Given the description of an element on the screen output the (x, y) to click on. 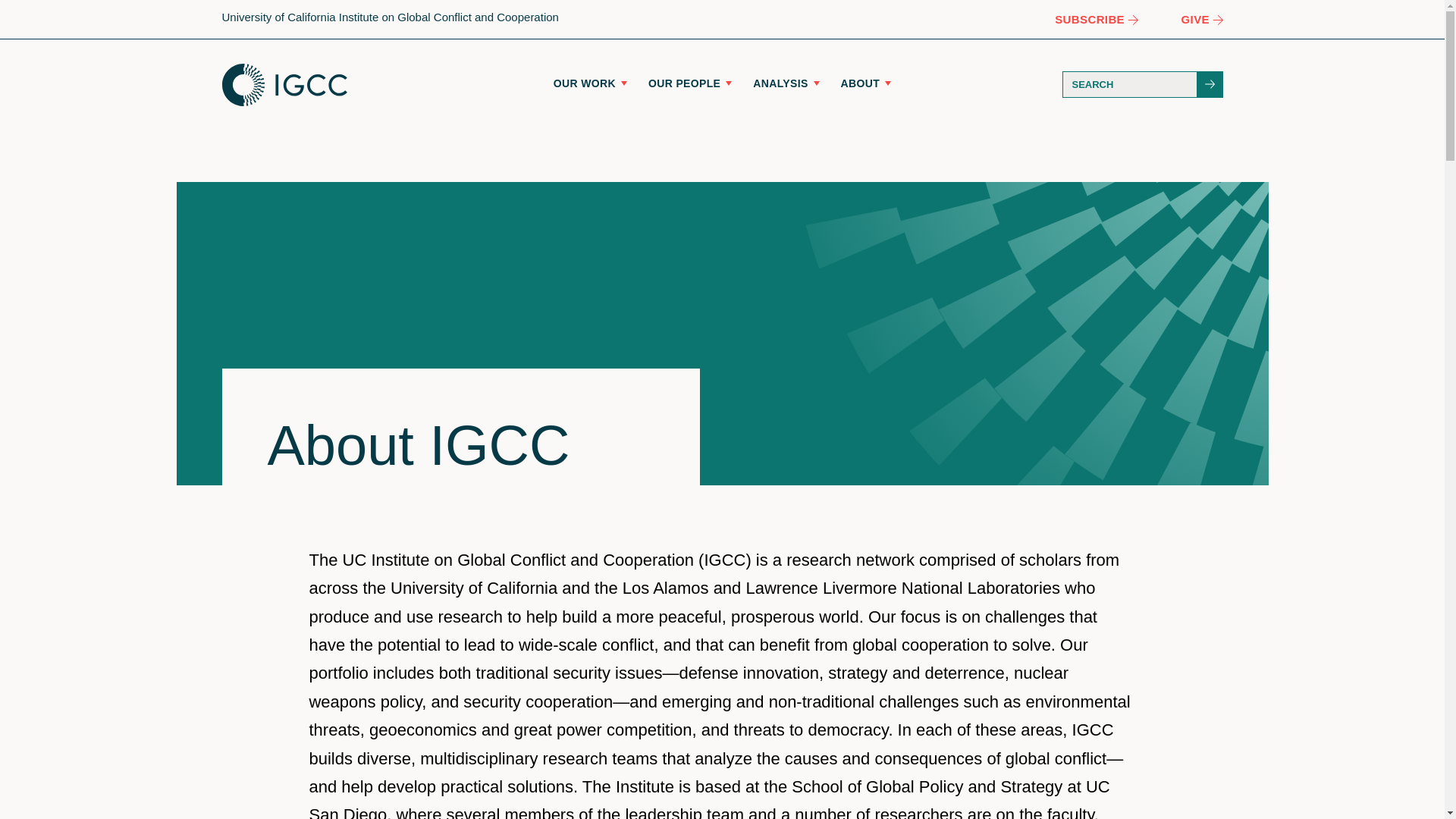
OUR PEOPLE (689, 82)
GIVE (1201, 18)
ANALYSIS (785, 82)
SUBSCRIBE (1095, 18)
ABOUT (866, 82)
IGCC (283, 84)
OUR WORK (590, 82)
